Given the description of an element on the screen output the (x, y) to click on. 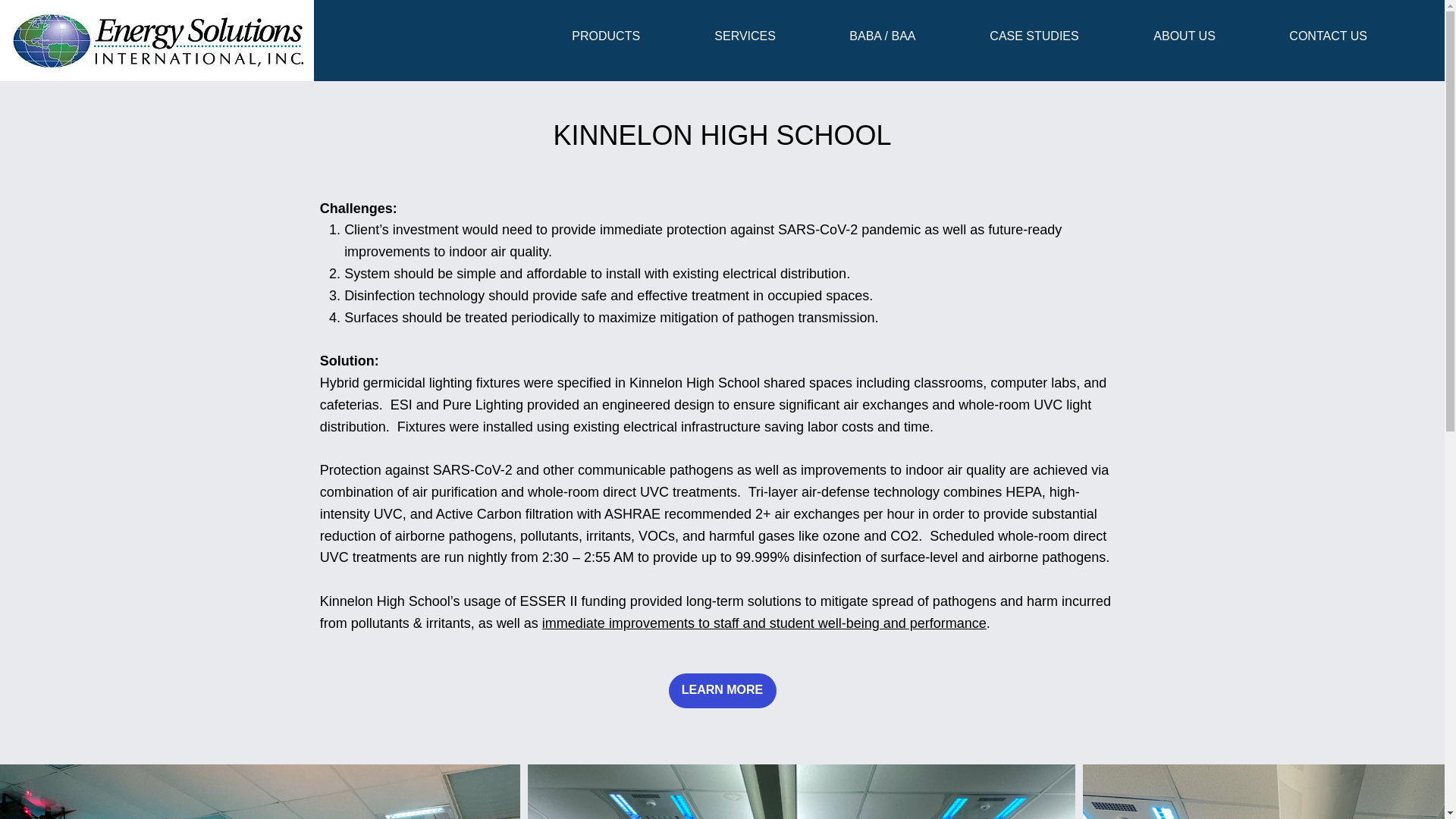
LEARN MORE (722, 690)
CONTACT US (1353, 35)
PRODUCTS (631, 35)
CASE STUDIES (1059, 35)
SERVICES (770, 35)
ABOUT US (1209, 35)
